Given the description of an element on the screen output the (x, y) to click on. 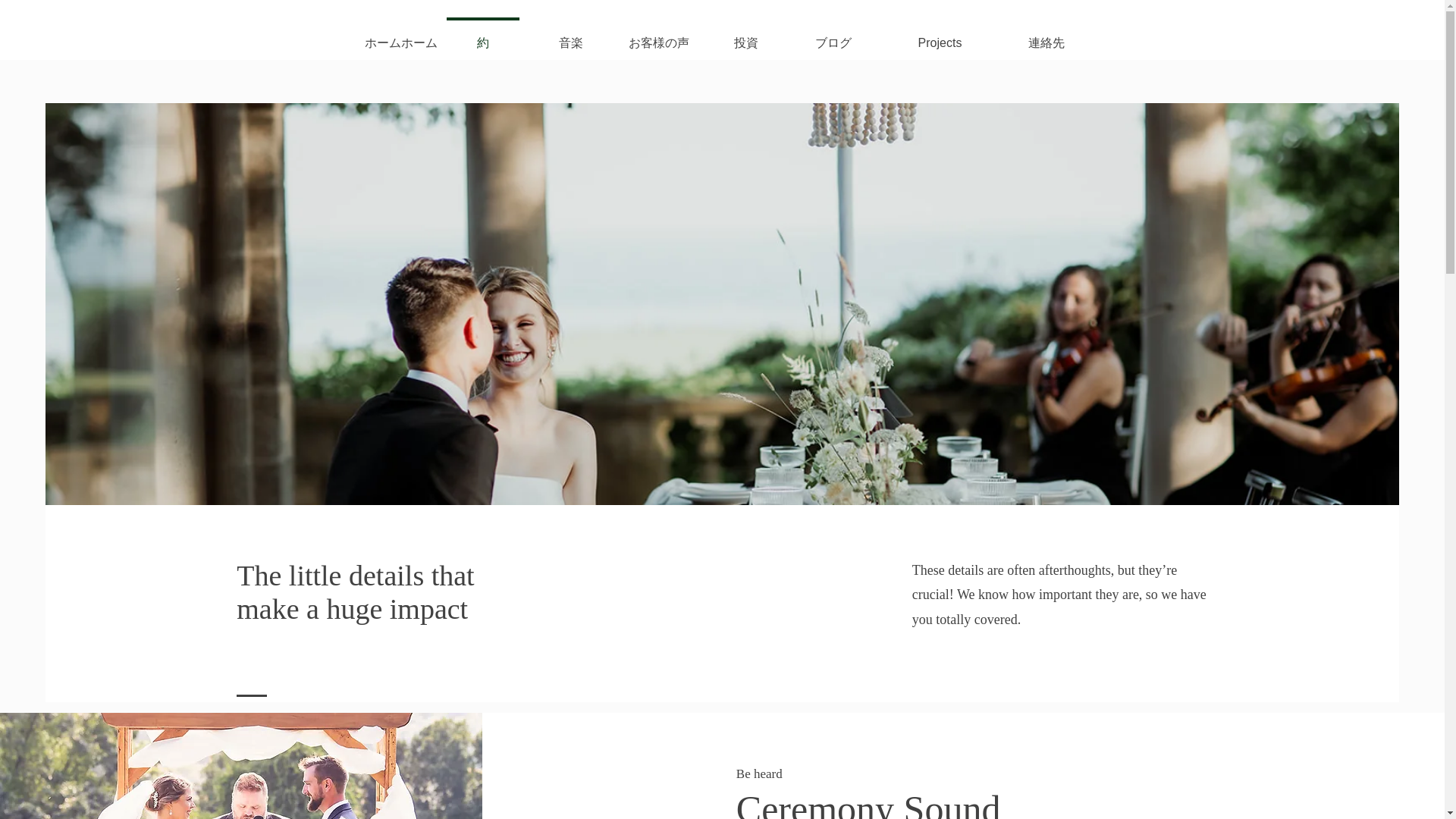
Projects (939, 36)
